Given the description of an element on the screen output the (x, y) to click on. 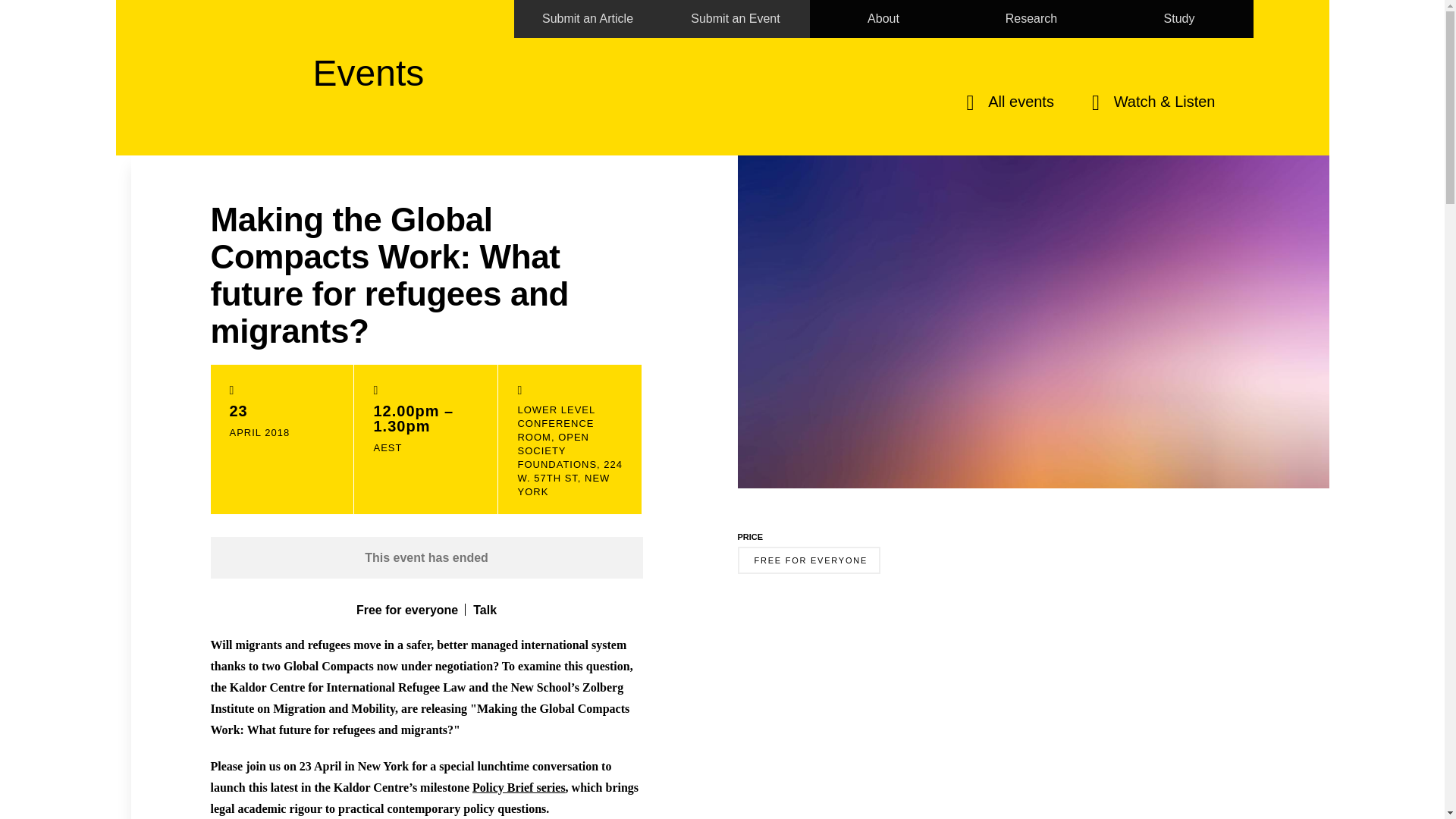
About (883, 18)
Submit an Event (735, 18)
All events (1010, 104)
Study (1179, 18)
Events (368, 59)
Research (1030, 18)
FREE FOR EVERYONE (808, 560)
Videos and podcacts (1153, 104)
Submit an Article (587, 18)
